Given the description of an element on the screen output the (x, y) to click on. 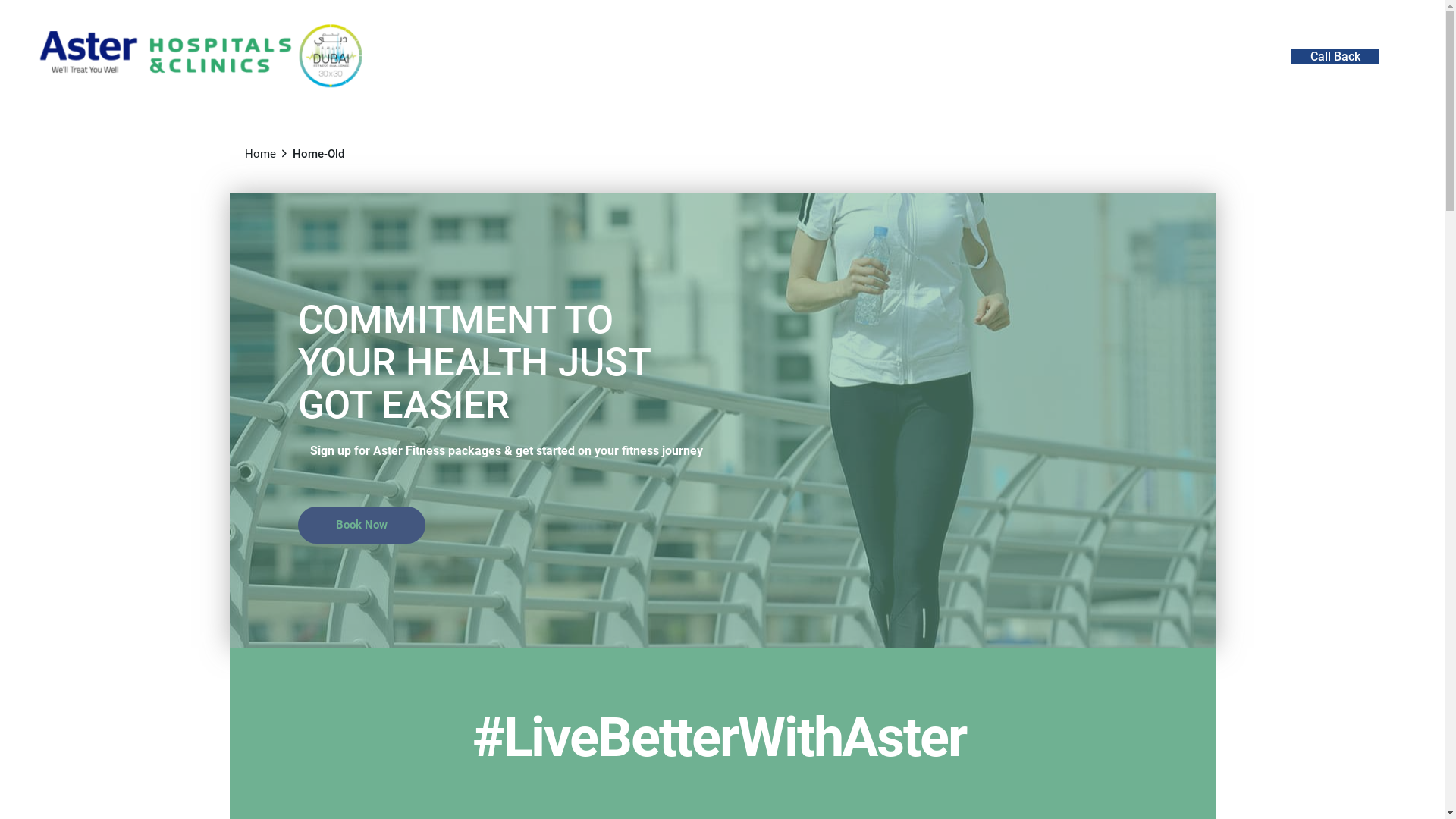
Call Back Element type: text (1335, 57)
Book Now Element type: text (360, 524)
Home Element type: text (259, 153)
